Given the description of an element on the screen output the (x, y) to click on. 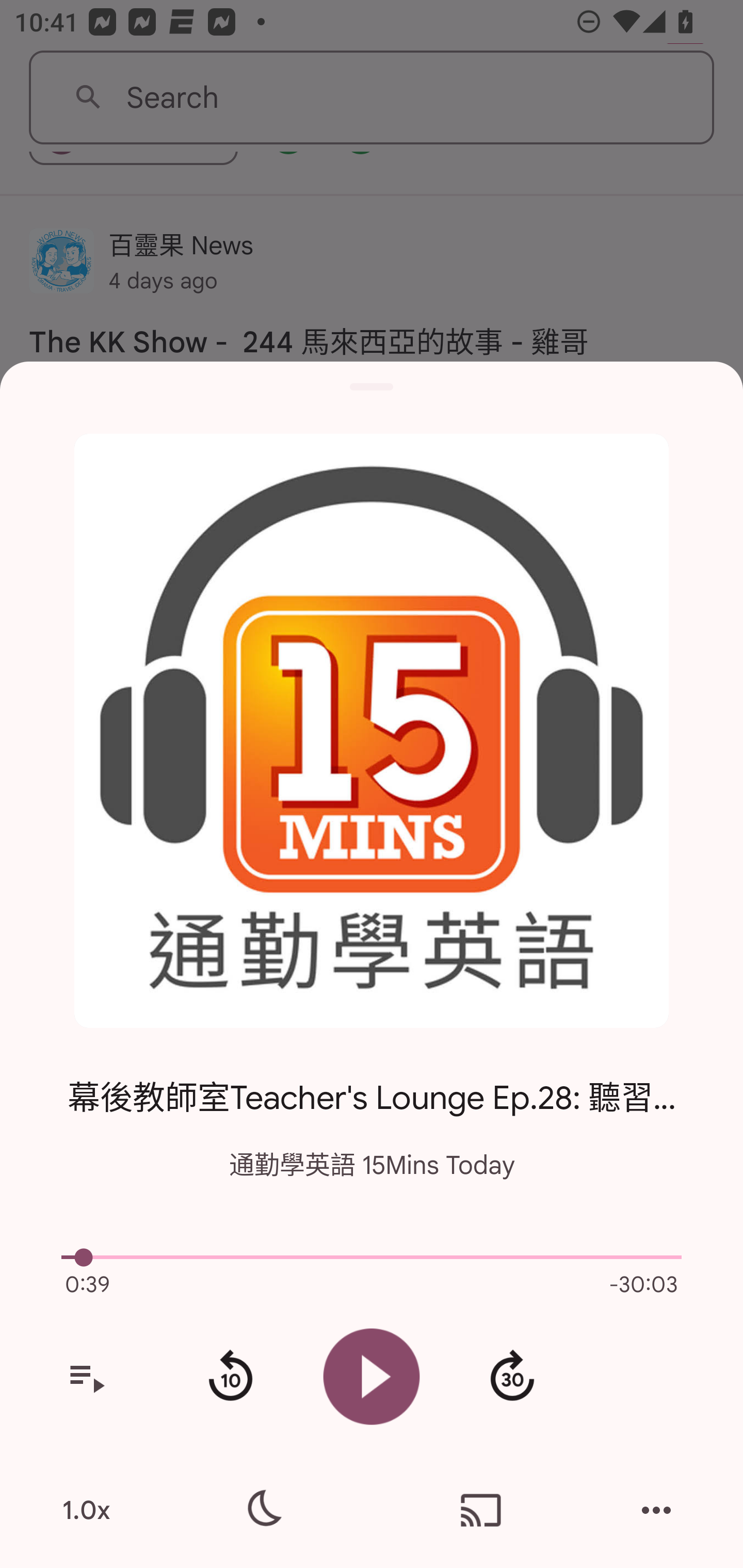
Open the show page for 通勤學英語 15Mins Today (371, 731)
214.0 Current episode playback (371, 1257)
Play (371, 1376)
View your queue (86, 1376)
Rewind 10 seconds (230, 1376)
Fast forward 30 second (511, 1376)
1.0x Playback speed is 1.0. (86, 1510)
Sleep timer settings (261, 1510)
Cast. Disconnected (480, 1510)
More actions (655, 1510)
